Given the description of an element on the screen output the (x, y) to click on. 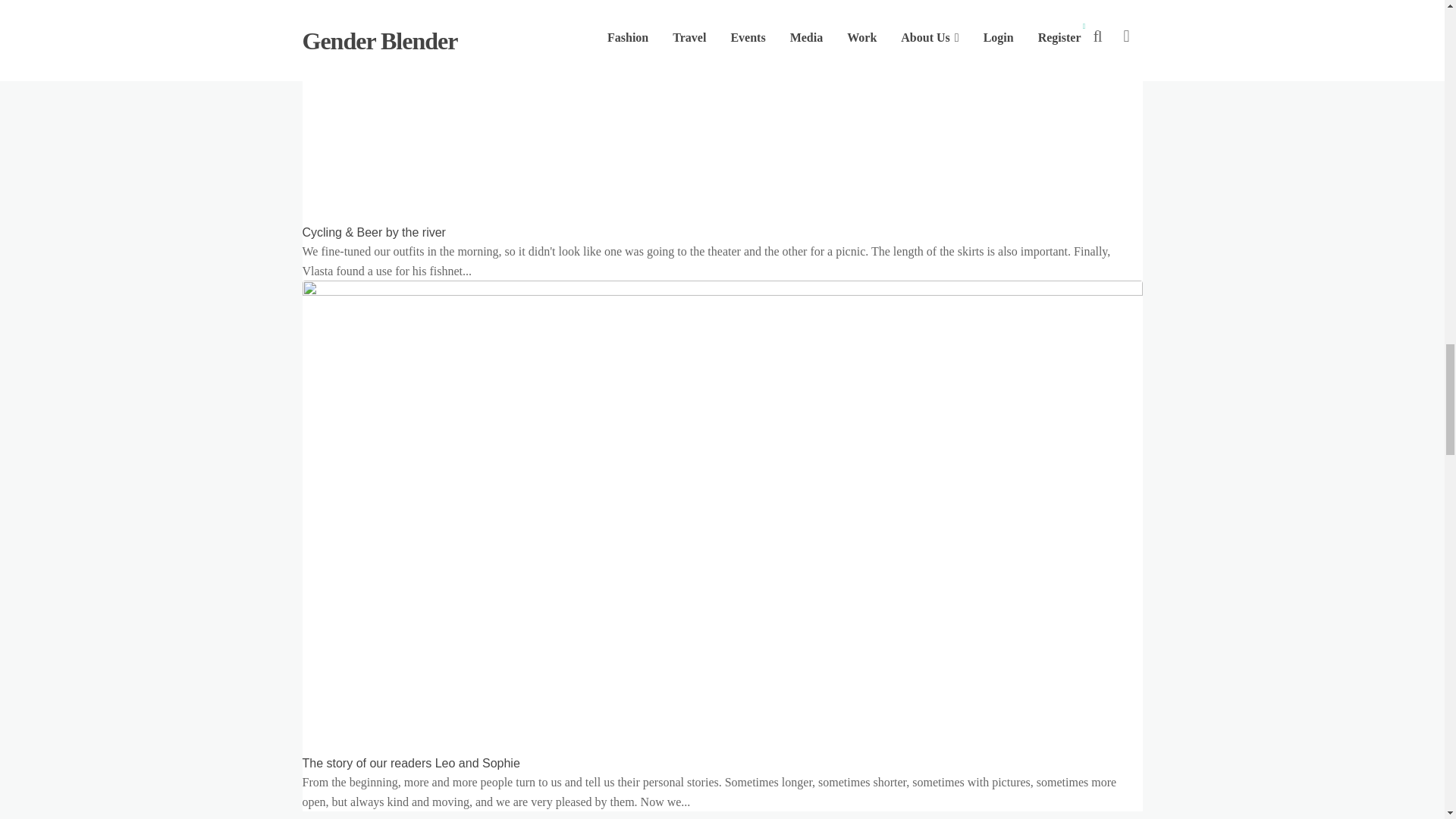
The story of our readers Leo and Sophie (410, 762)
